Given the description of an element on the screen output the (x, y) to click on. 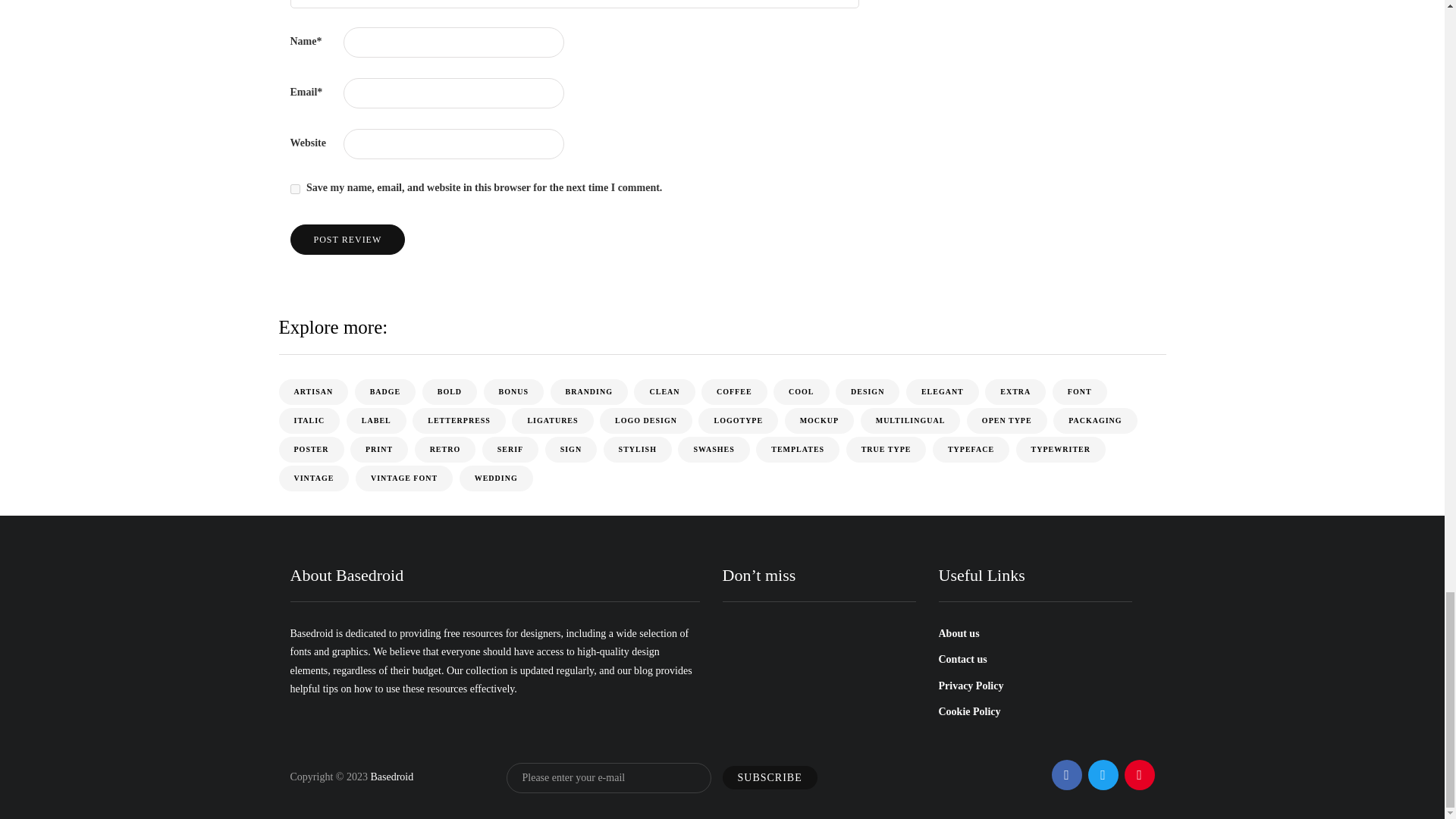
yes (294, 189)
Post review (346, 239)
